Given the description of an element on the screen output the (x, y) to click on. 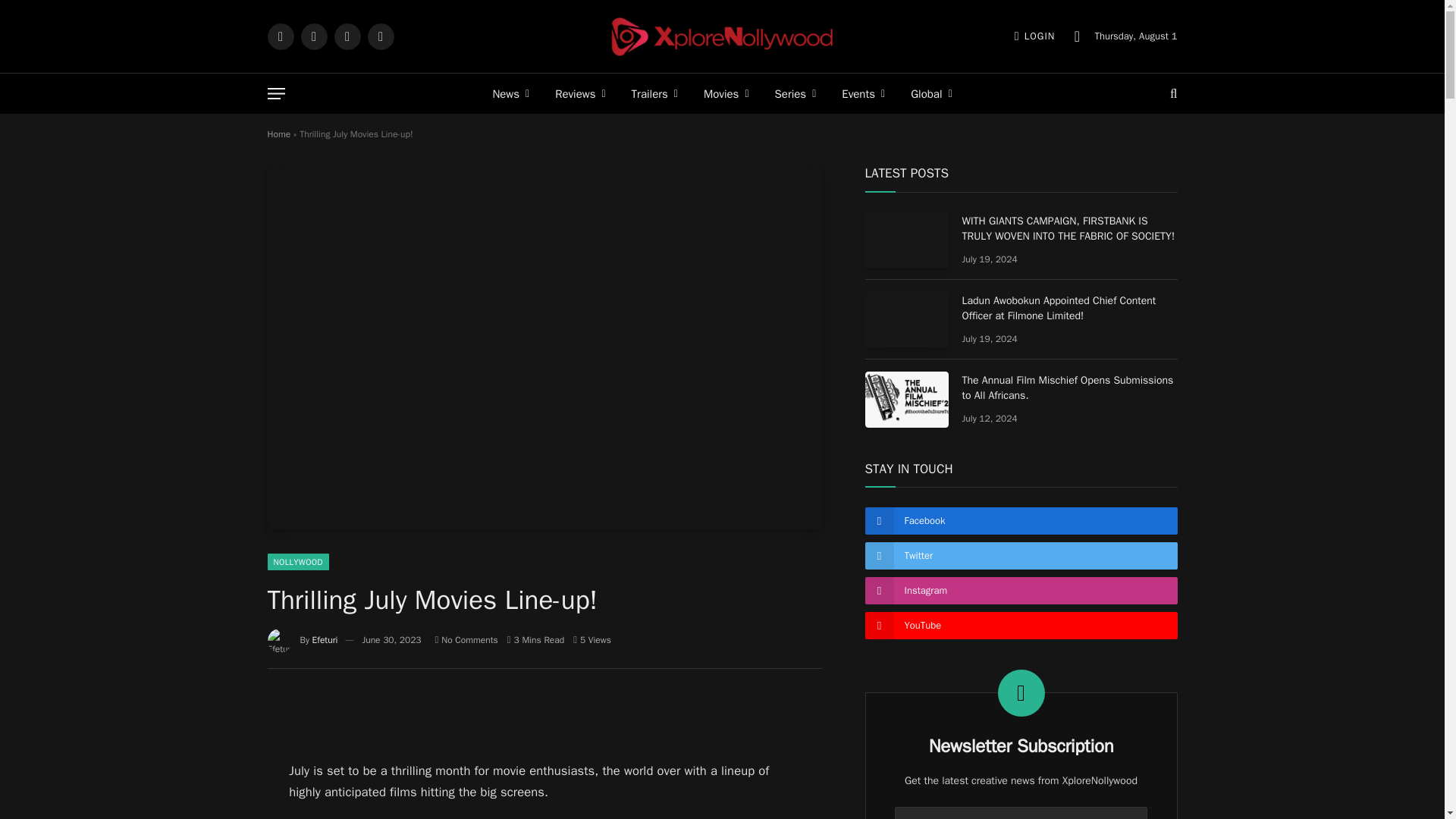
XploreNollywood (721, 36)
Posts by Efeturi (325, 639)
Switch to Light Design. (1076, 36)
5 Article Views (592, 639)
